Given the description of an element on the screen output the (x, y) to click on. 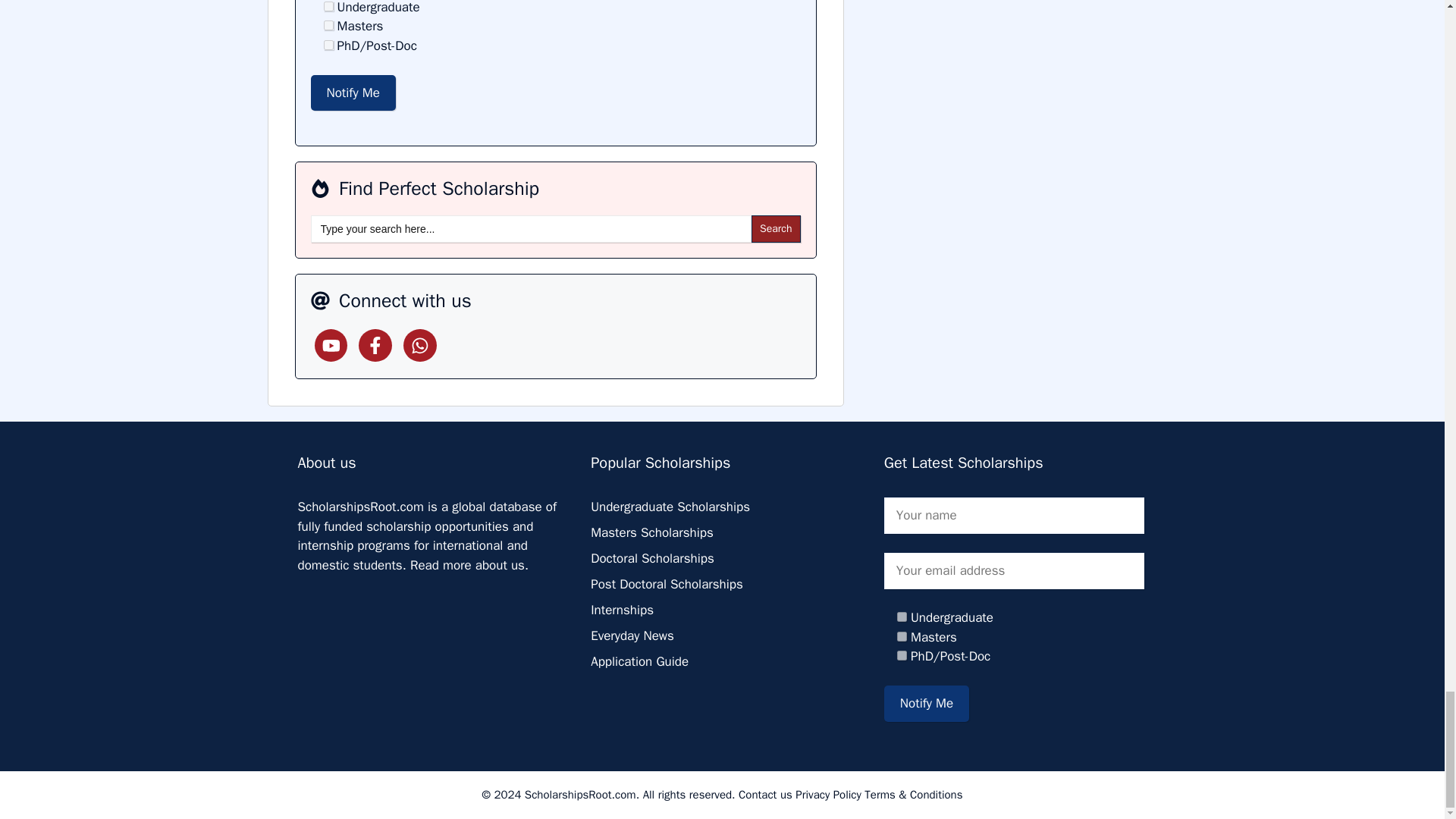
Undergraduate (901, 616)
Undergraduate (328, 6)
Notify Me (926, 703)
Notify Me (353, 93)
Masters (901, 636)
Search (775, 228)
Search (775, 228)
Masters (328, 25)
